Given the description of an element on the screen output the (x, y) to click on. 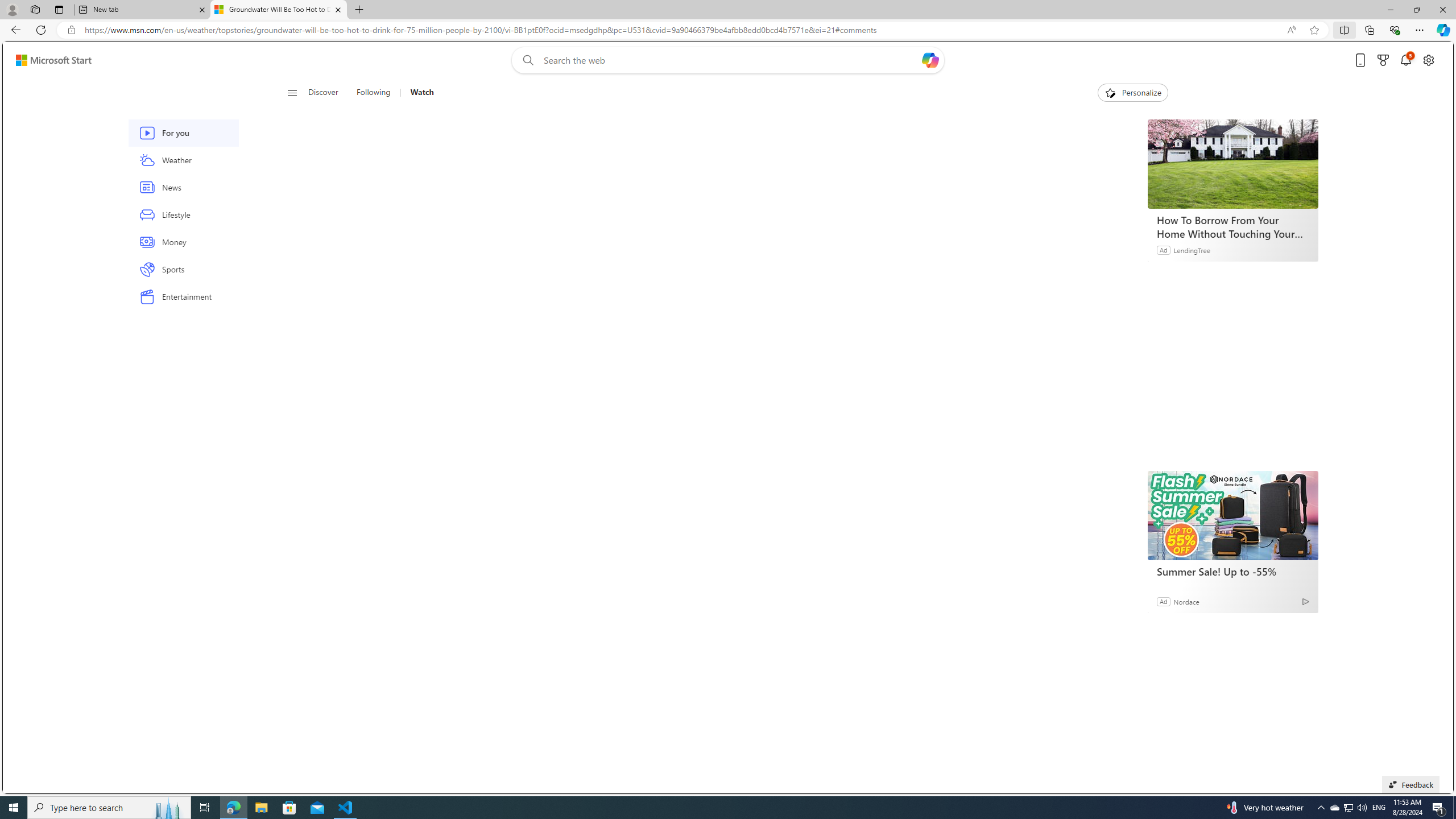
How To Borrow From Your Home Without Touching Your Mortgage (1232, 163)
Enter your search term (730, 59)
